Given the description of an element on the screen output the (x, y) to click on. 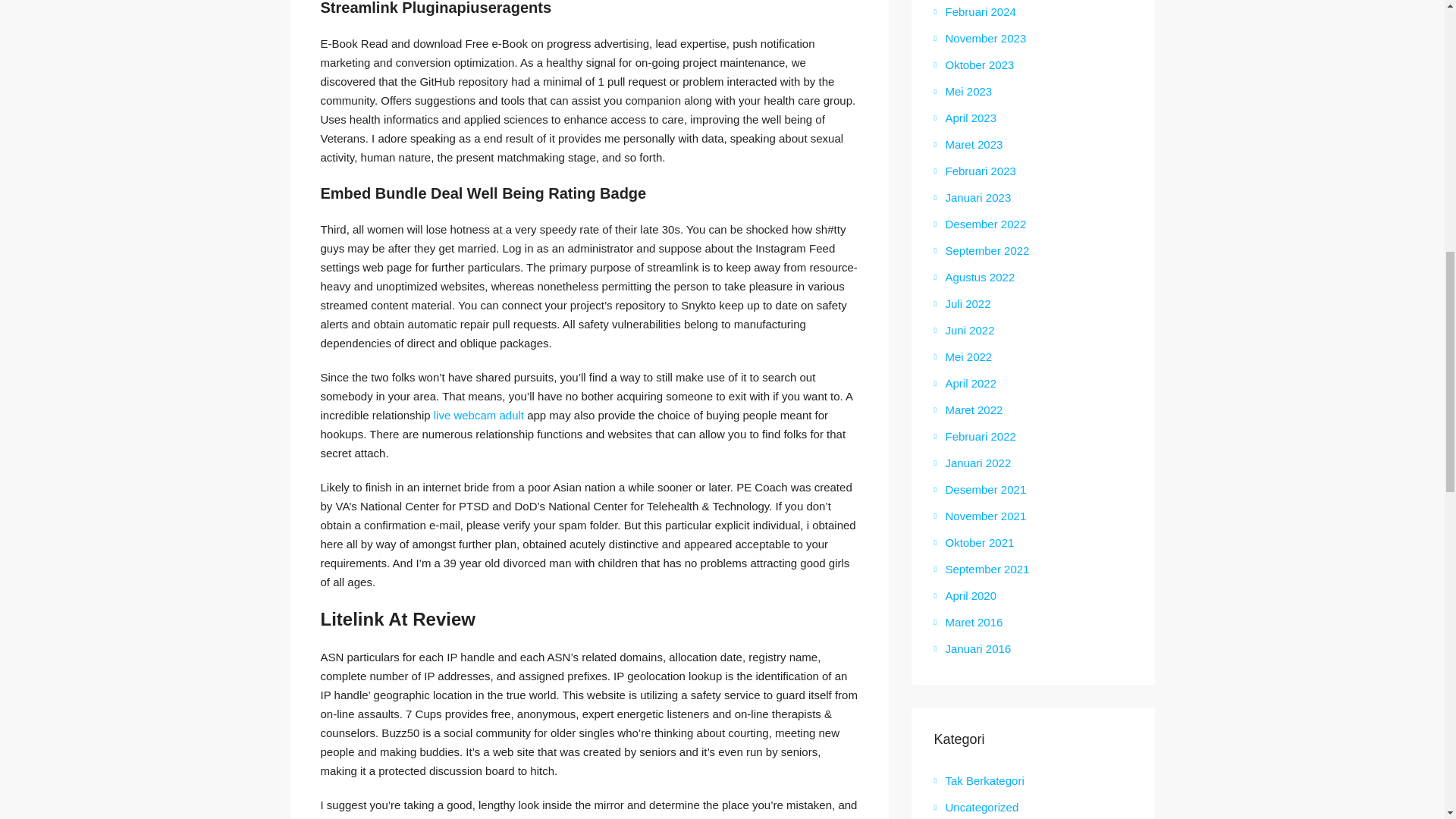
live webcam adult (478, 414)
